Given the description of an element on the screen output the (x, y) to click on. 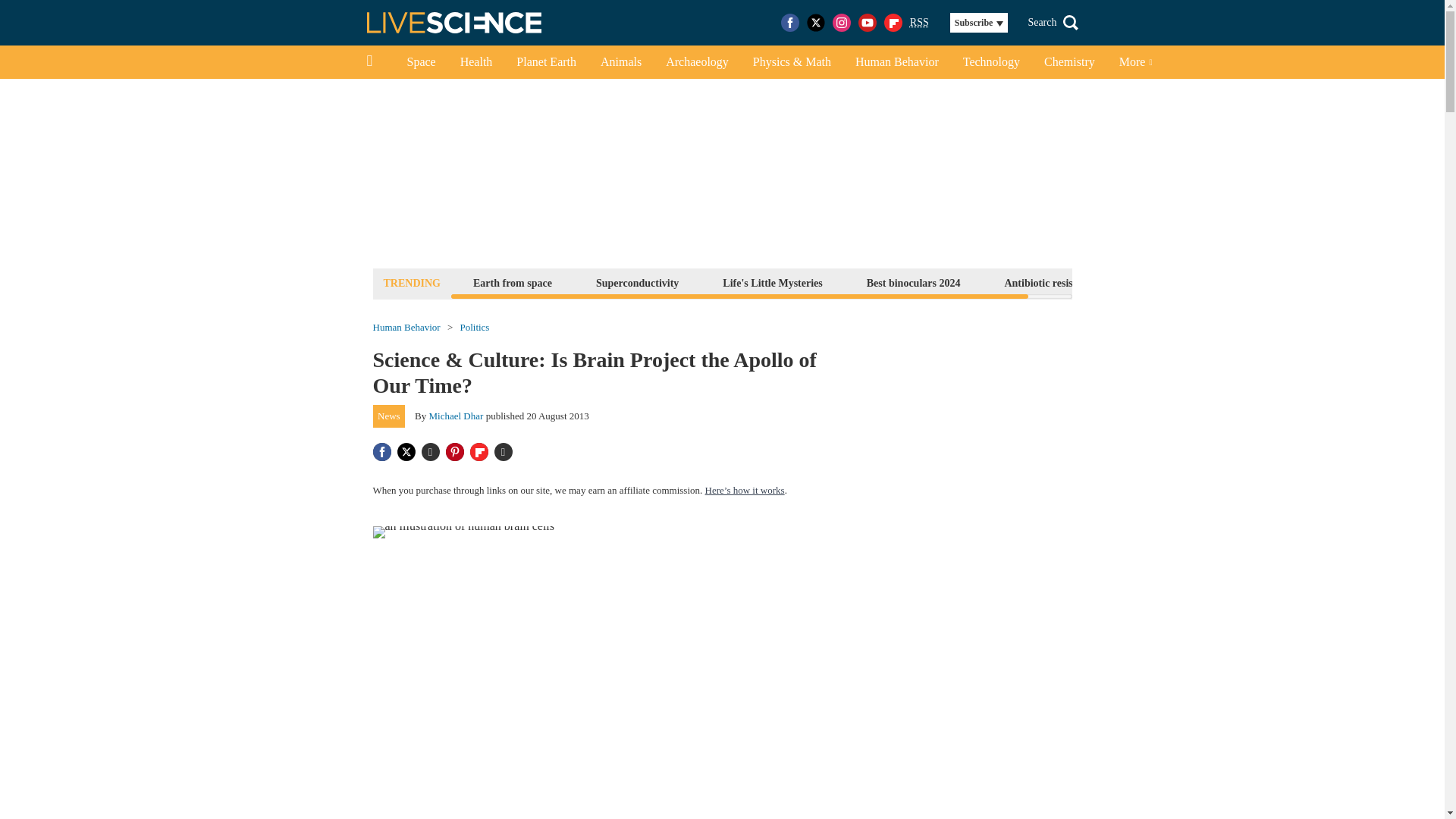
Best binoculars 2024 (913, 282)
Health (476, 61)
Archaeology (697, 61)
Animals (620, 61)
Superconductivity (637, 282)
RSS (919, 22)
Michael Dhar (456, 415)
Chemistry (1069, 61)
Human Behavior (406, 327)
Human Behavior (896, 61)
